Given the description of an element on the screen output the (x, y) to click on. 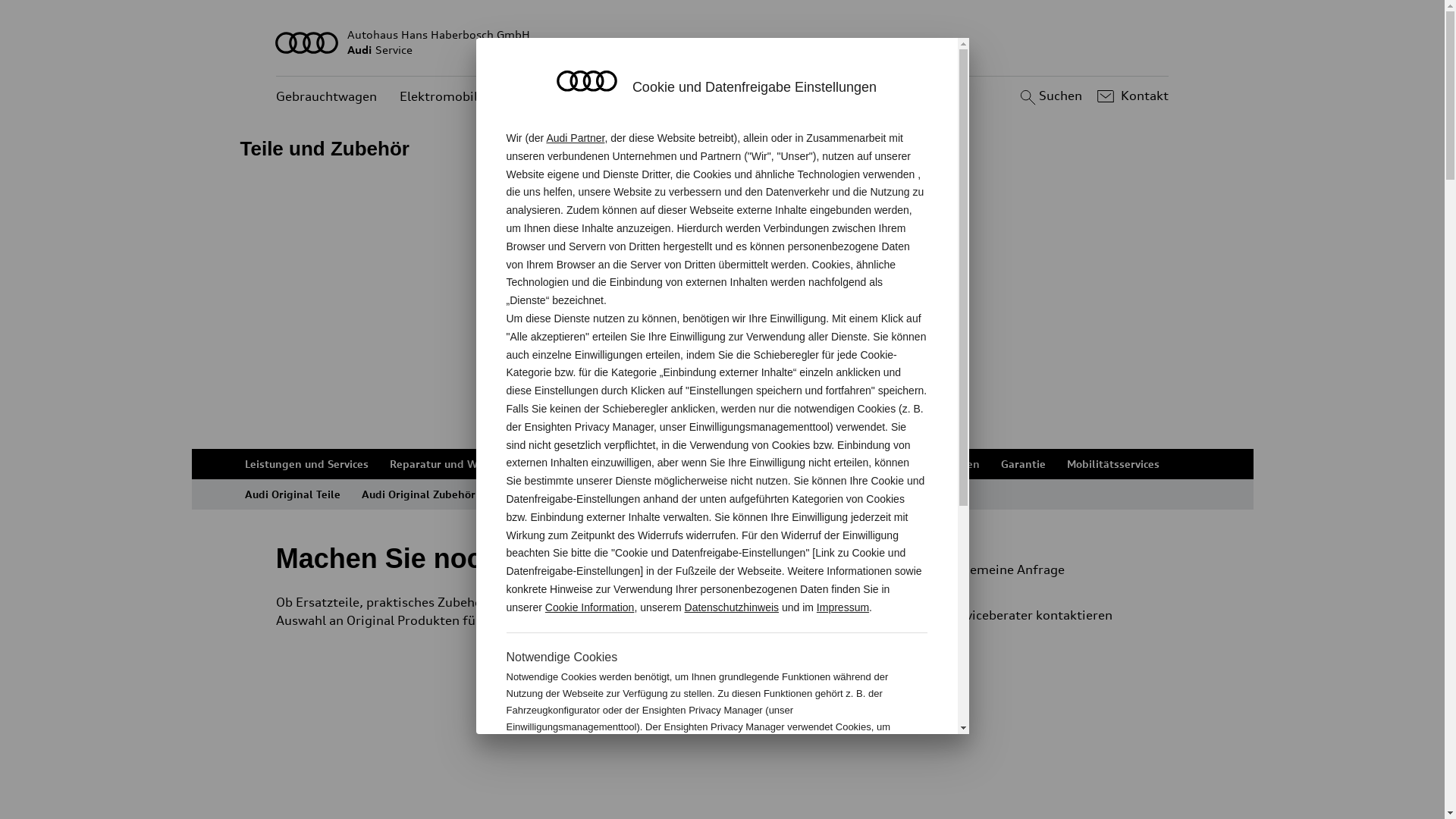
Datenschutzhinweis Element type: text (731, 607)
Angebote Element type: text (550, 96)
Leistungen und Services Element type: text (305, 463)
Versicherungen Element type: text (938, 463)
Kontakt Element type: text (1130, 96)
Garantie Element type: text (1023, 463)
Impressum Element type: text (842, 607)
Cookie Information Element type: text (847, 776)
Serviceberater kontaktieren Element type: text (1044, 614)
Kundenservice Element type: text (645, 96)
Audi Kundendialog Element type: text (696, 463)
Autohaus Hans Haberbosch GmbH
AudiService Element type: text (722, 42)
Audi Shopping World Element type: text (551, 494)
Reparatur und Wartung Element type: text (451, 463)
Suchen Element type: text (1049, 96)
Cookie Information Element type: text (589, 607)
Ihre Ansprechpartner Element type: text (822, 463)
Audi Partner Element type: text (575, 137)
Audi Original Teile Element type: text (291, 494)
Gebrauchtwagen Element type: text (326, 96)
Allgemeine Anfrage Element type: text (1038, 569)
